Given the description of an element on the screen output the (x, y) to click on. 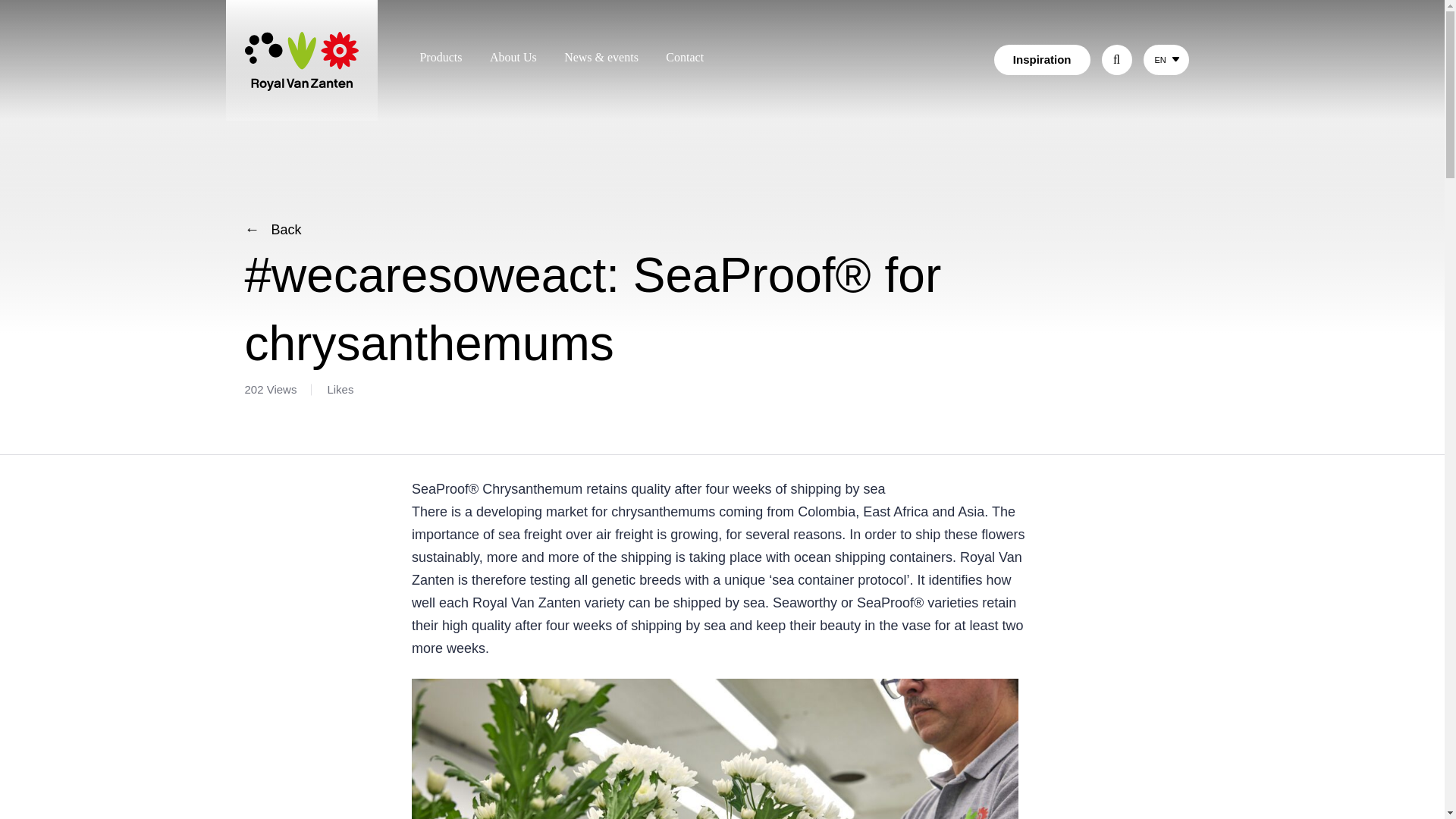
Inspiration (1042, 60)
About Us (513, 57)
Products (440, 57)
Back (272, 229)
EN (1159, 60)
Search (1068, 58)
Contact (684, 57)
